Given the description of an element on the screen output the (x, y) to click on. 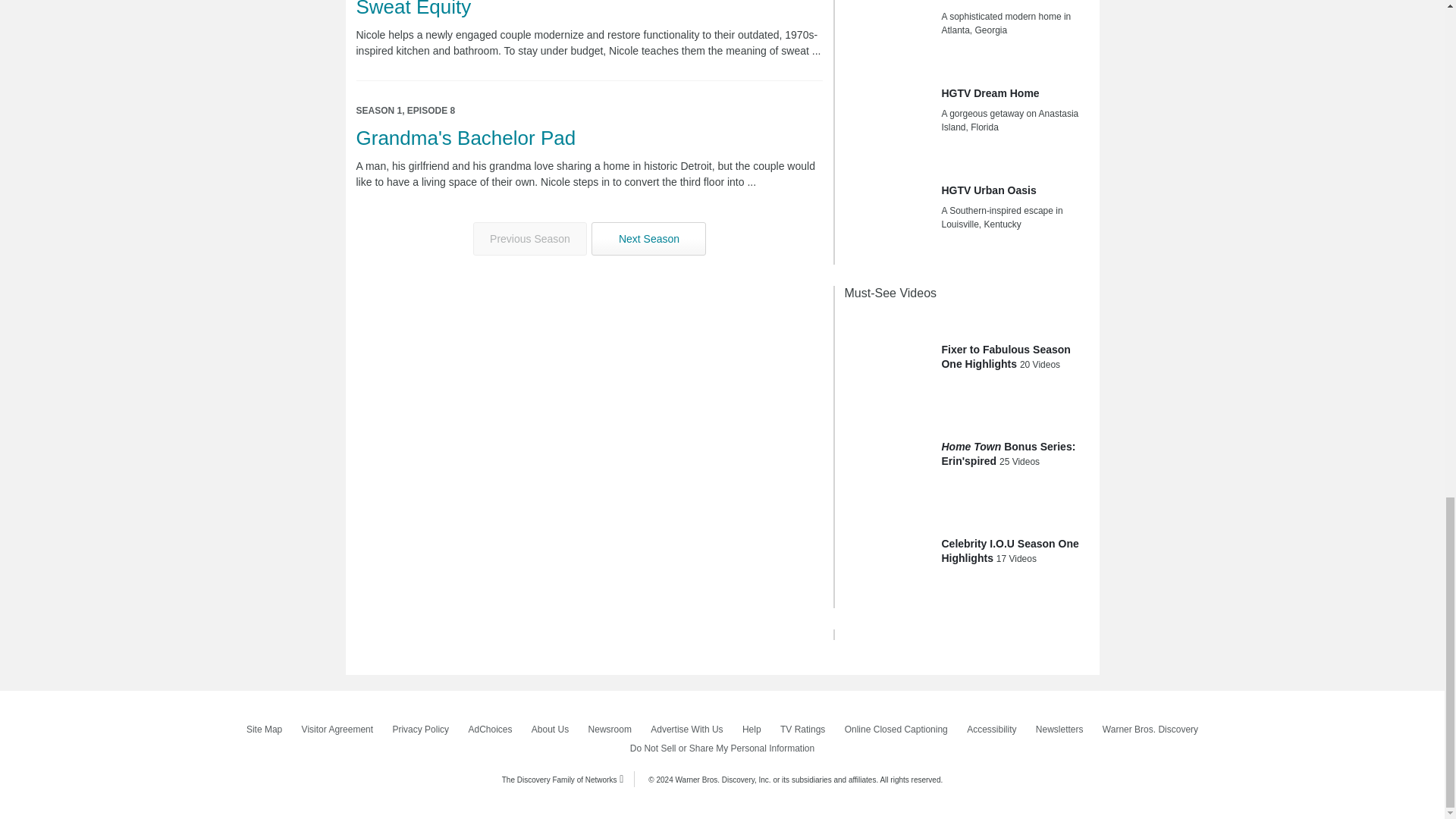
HGTV Smart Home (887, 29)
Fixer to Fabulous Season One Highlights (887, 359)
Celebrity I.O.U Season One Highlights (887, 554)
HGTV Urban Oasis (887, 210)
HGTV Dream Home (887, 113)
